Given the description of an element on the screen output the (x, y) to click on. 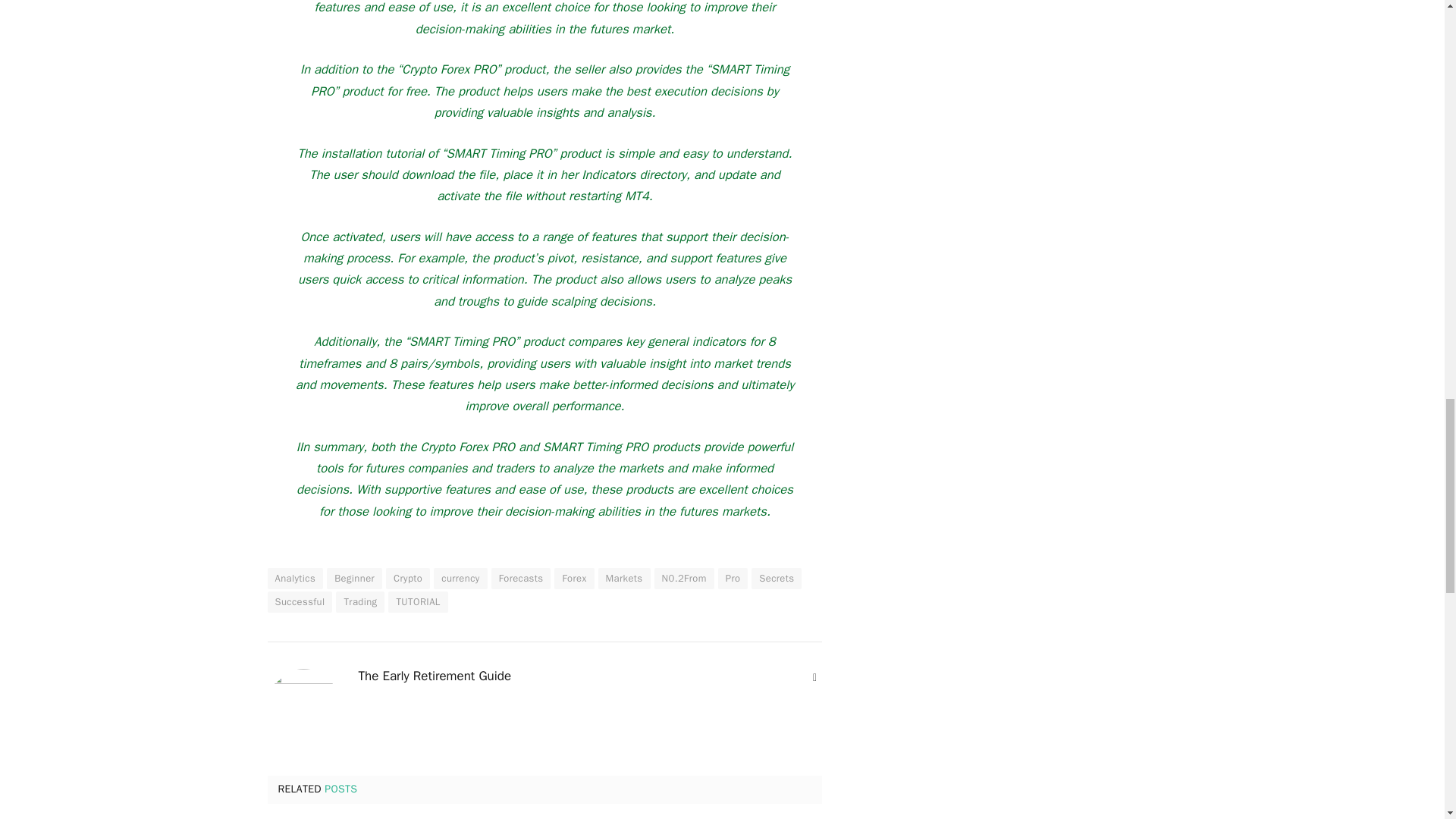
Posts by The Early Retirement Guide (434, 676)
Beginner (353, 578)
Analytics (294, 578)
Crypto (407, 578)
Website (814, 677)
currency (459, 578)
